Given the description of an element on the screen output the (x, y) to click on. 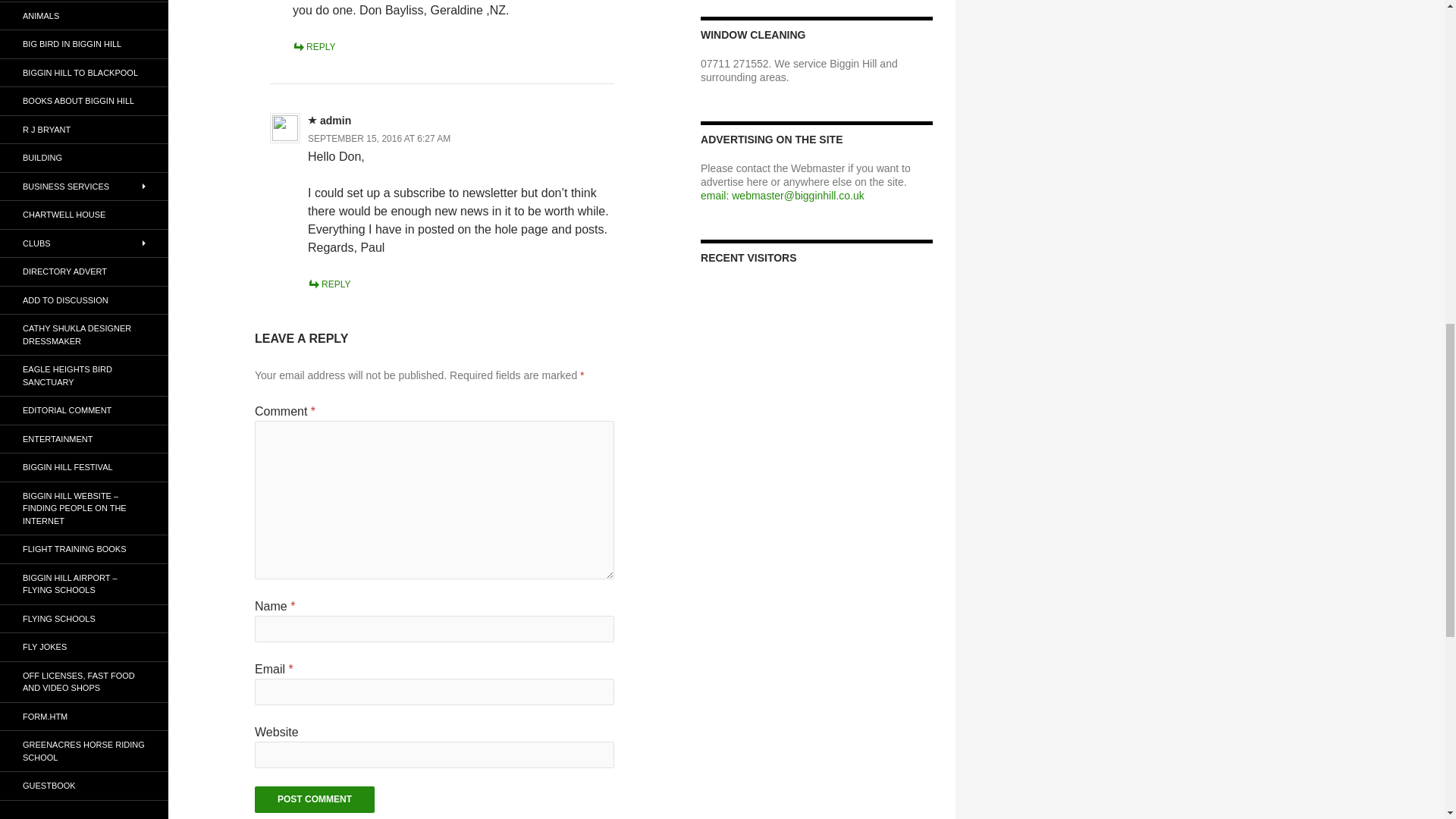
REPLY (328, 284)
REPLY (313, 46)
SEPTEMBER 15, 2016 AT 6:27 AM (378, 138)
Post Comment (314, 799)
Post Comment (314, 799)
